Given the description of an element on the screen output the (x, y) to click on. 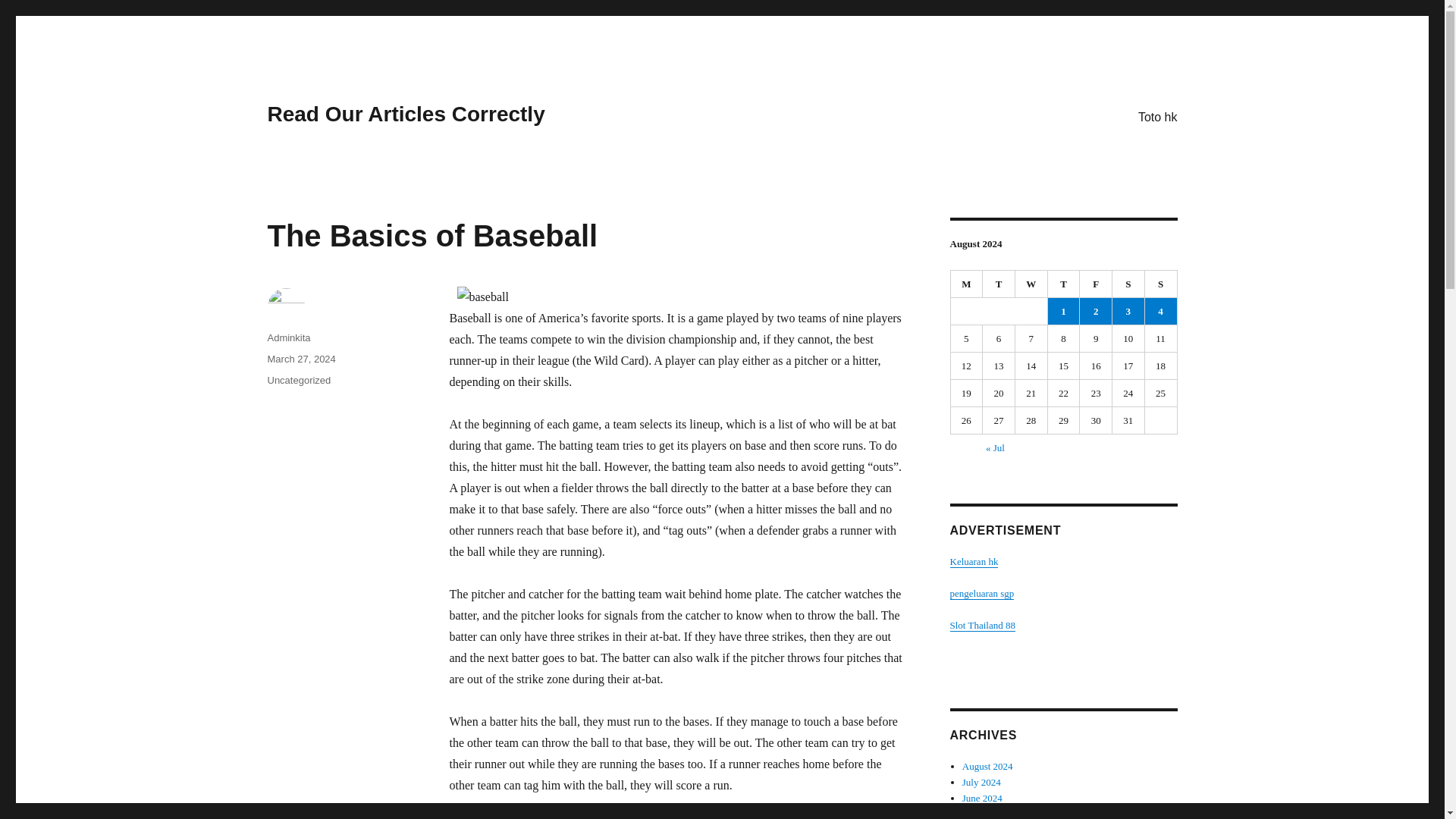
Tuesday (998, 284)
Read Our Articles Correctly (405, 114)
March 27, 2024 (300, 358)
Sunday (1160, 284)
Wednesday (1031, 284)
Uncategorized (298, 379)
Friday (1096, 284)
Toto hk (1157, 116)
Monday (967, 284)
Thursday (1064, 284)
